Given the description of an element on the screen output the (x, y) to click on. 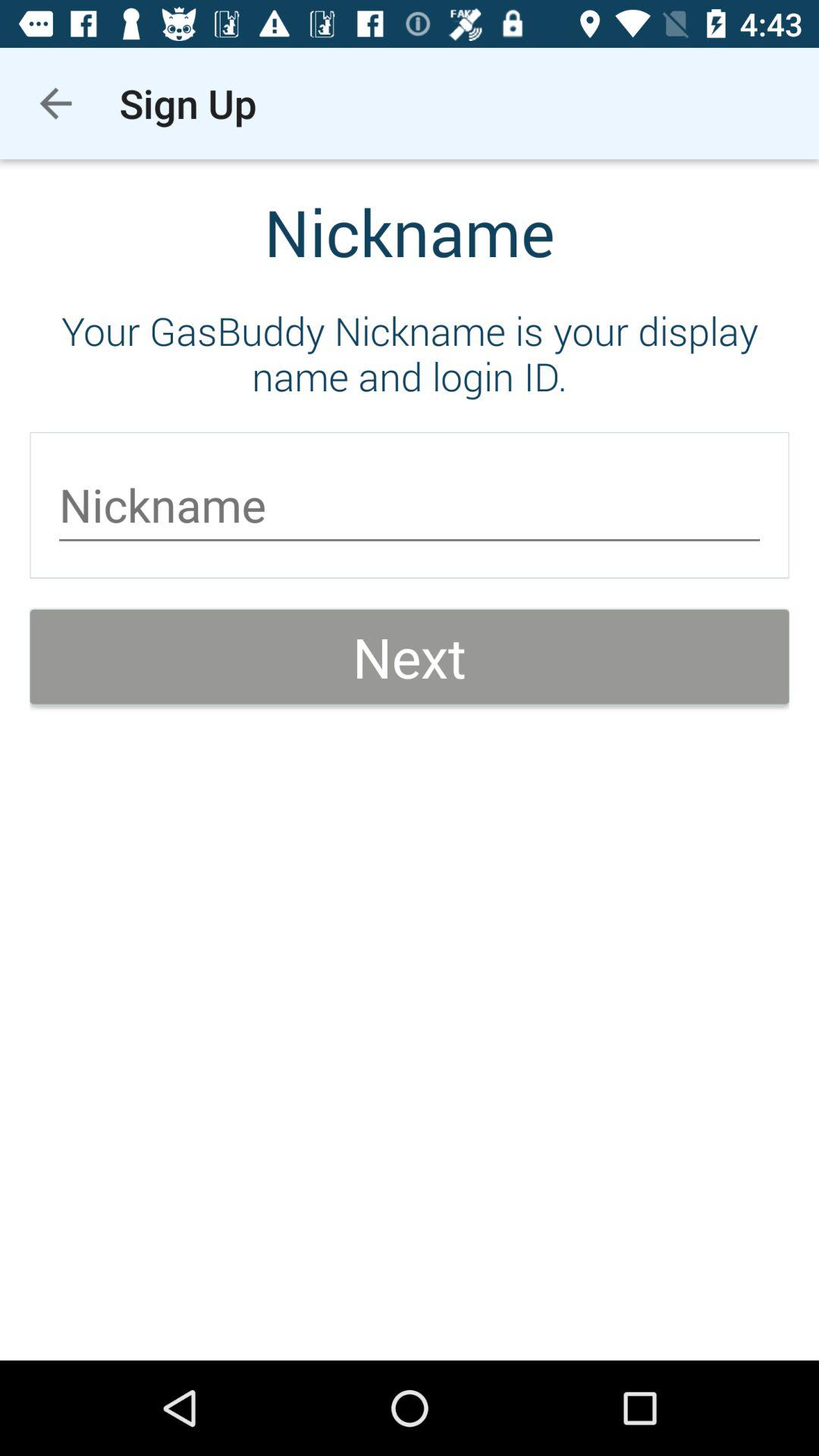
open the item to the left of sign up (55, 103)
